Given the description of an element on the screen output the (x, y) to click on. 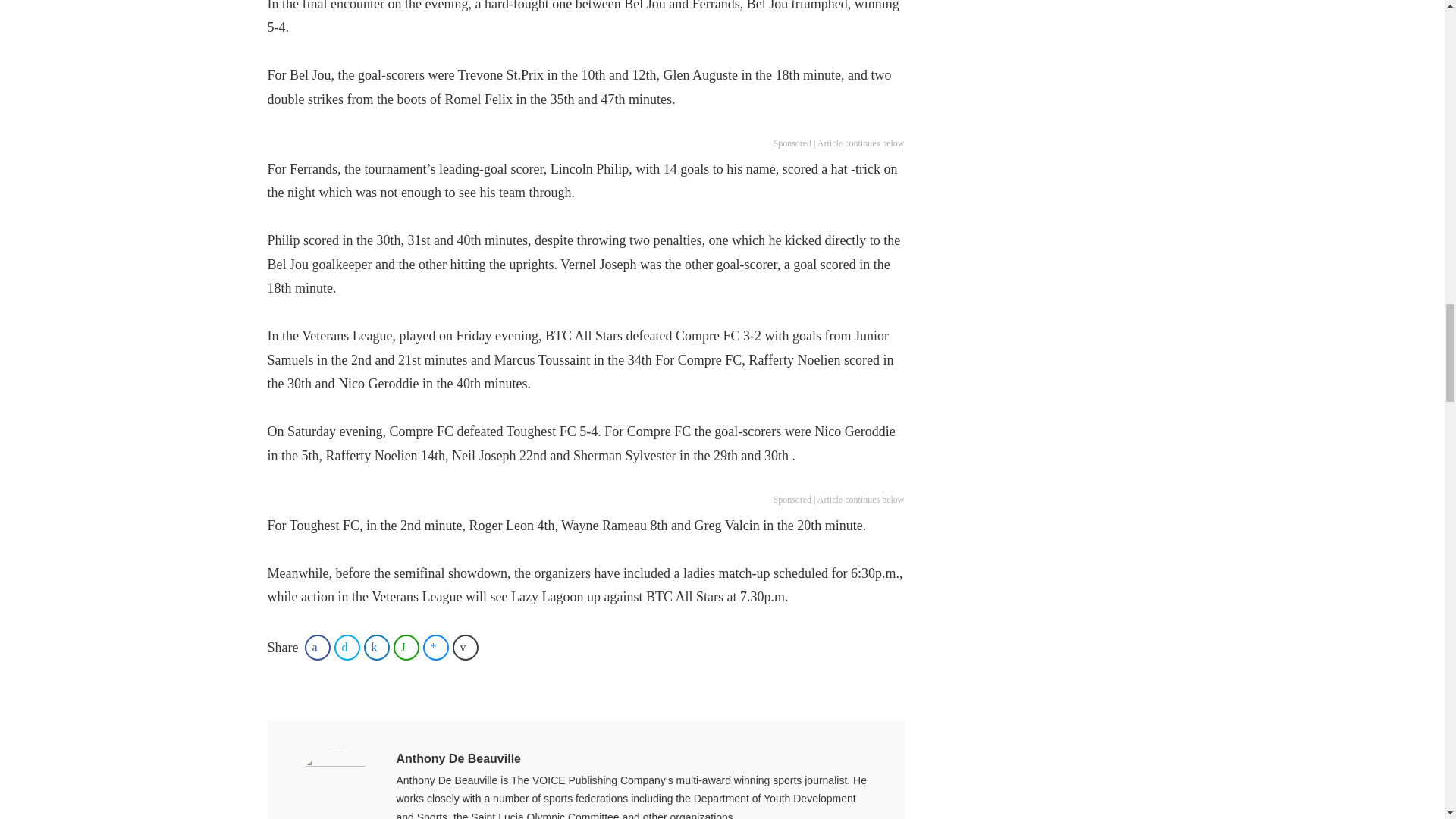
Share on Facebook (317, 647)
Share on LinkedIn (377, 647)
Share on Twitter (346, 647)
